Given the description of an element on the screen output the (x, y) to click on. 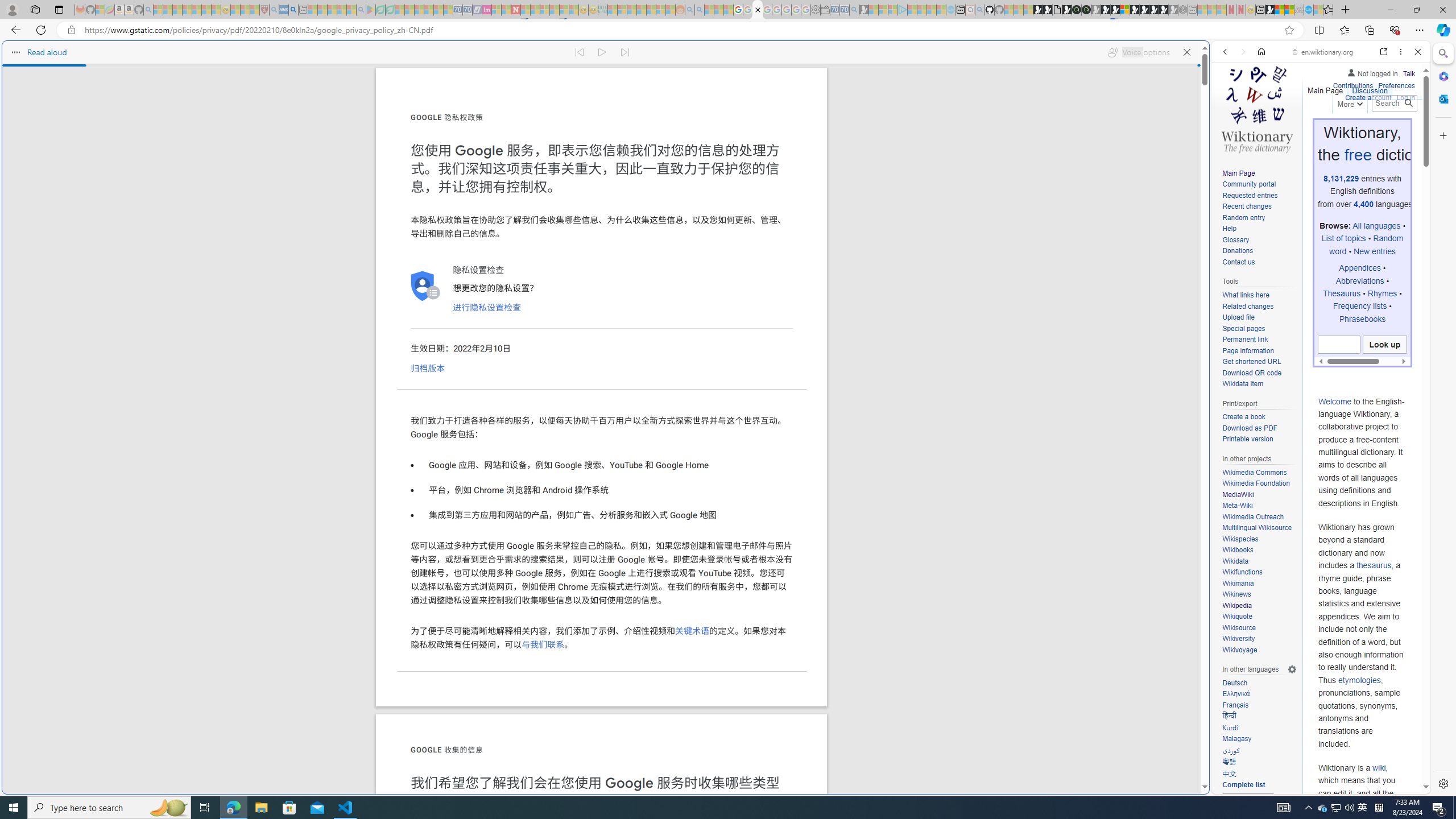
Wikivoyage (1259, 650)
Expert Portfolios - Sleeping (640, 9)
Close read aloud (1186, 52)
World - MSN (727, 389)
Class: b_serphb (1404, 130)
utah sues federal government - Search (922, 389)
Play Cave FRVR in your browser | Games from Microsoft Start (922, 242)
